Given the description of an element on the screen output the (x, y) to click on. 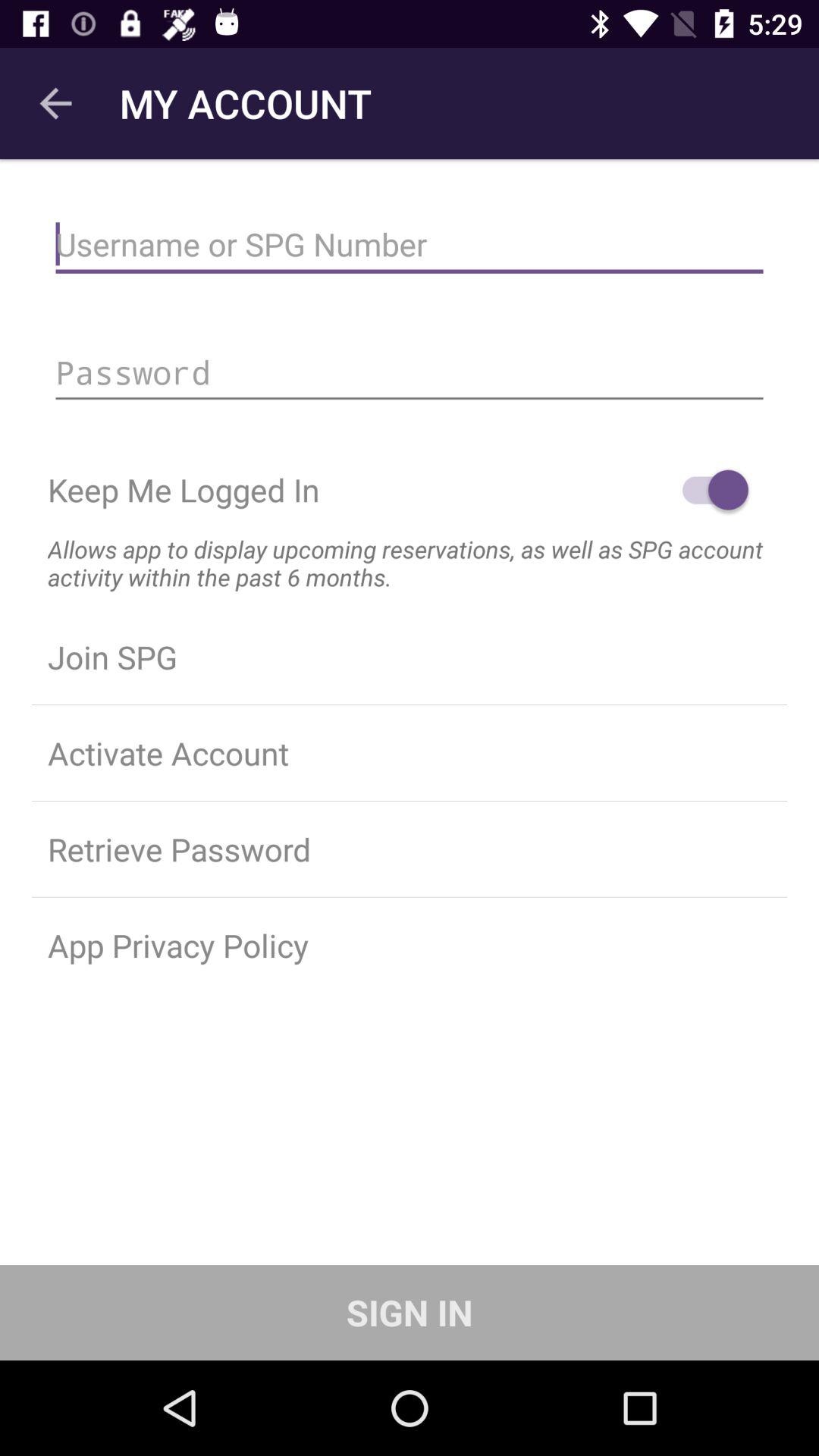
username (409, 244)
